Given the description of an element on the screen output the (x, y) to click on. 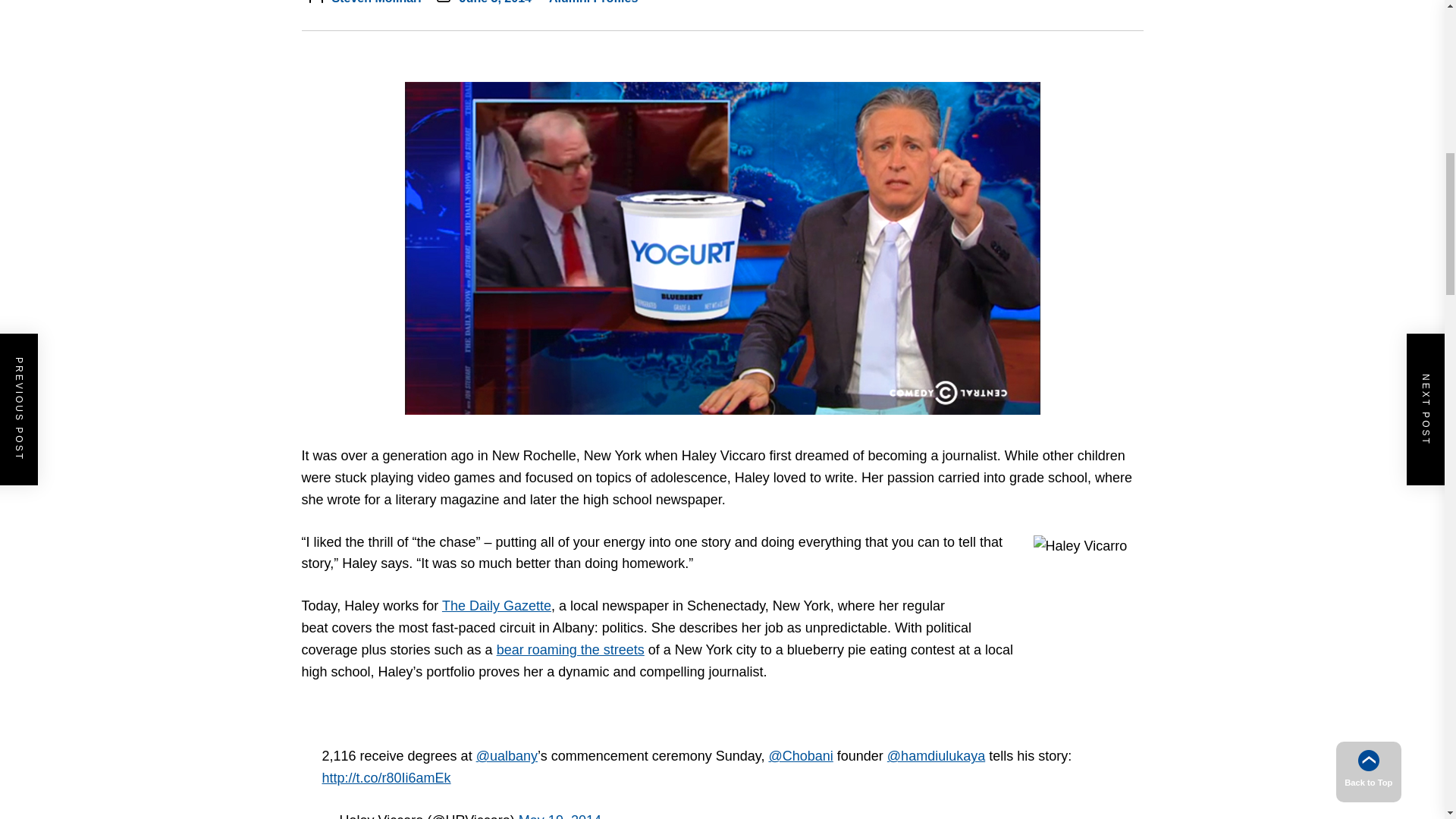
June 3, 2014 (495, 2)
bear roaming the streets (570, 649)
The Daily Gazette (496, 605)
Steven Molinari (376, 2)
Alumni Profiles (593, 2)
The Daily Gazette (496, 605)
May 19, 2014 (559, 816)
